Given the description of an element on the screen output the (x, y) to click on. 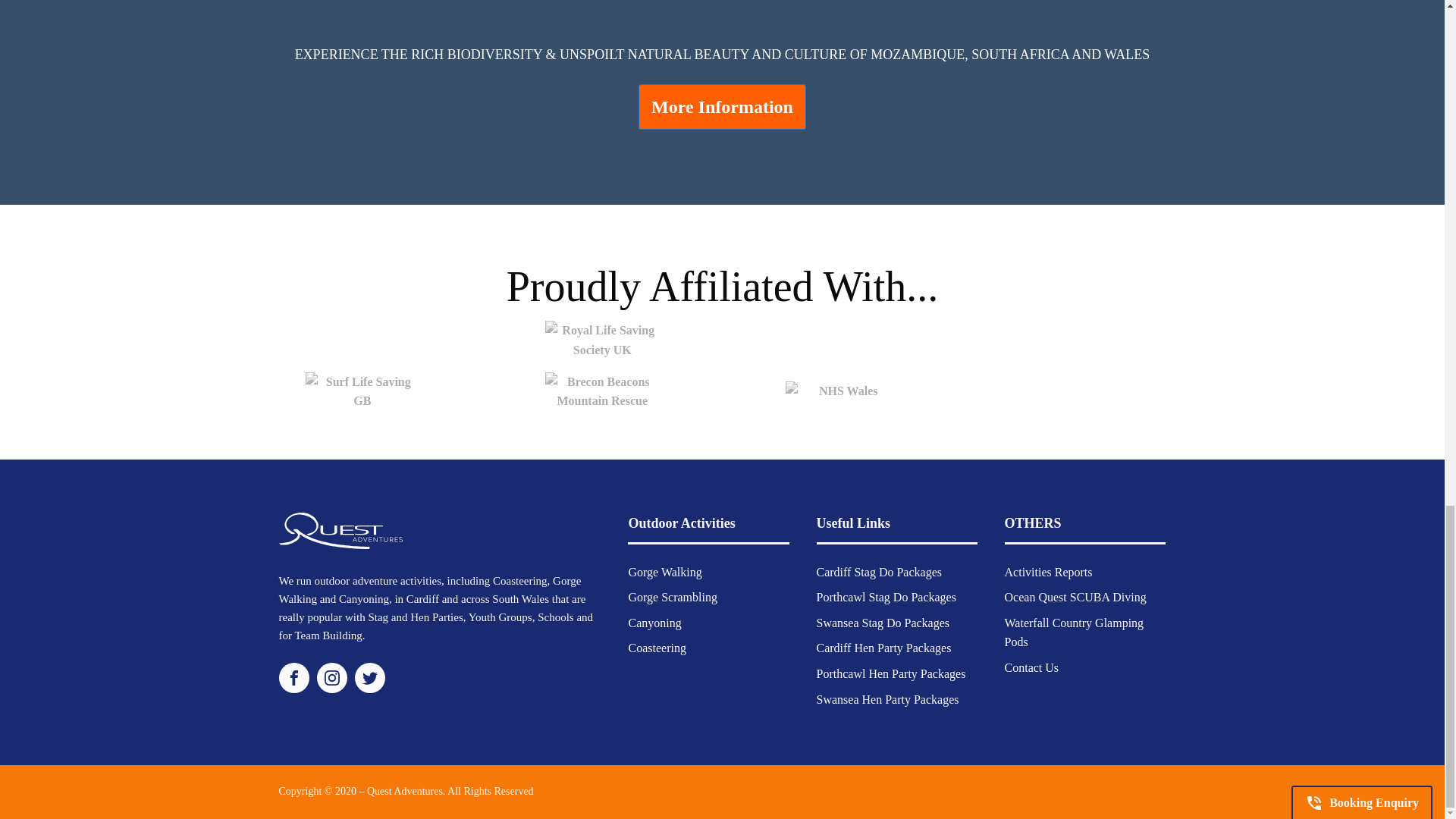
Contact Us (1085, 667)
Ocean Quest SCUBA Diving (1085, 597)
Gorge Scrambling (671, 597)
Coasteering (671, 647)
Porthcawl Stag Do Packages (891, 597)
Gorge Walking (671, 572)
More Information (722, 106)
Cardiff Hen Party Packages (891, 647)
Porthcawl Hen Party Packages (891, 673)
Swansea Stag Do Packages (891, 623)
Canyoning (671, 623)
Swansea Hen Party Packages (891, 699)
Cardiff Stag Do Packages (891, 572)
Waterfall Country Glamping Pods (1085, 632)
Activities Reports (1085, 572)
